Given the description of an element on the screen output the (x, y) to click on. 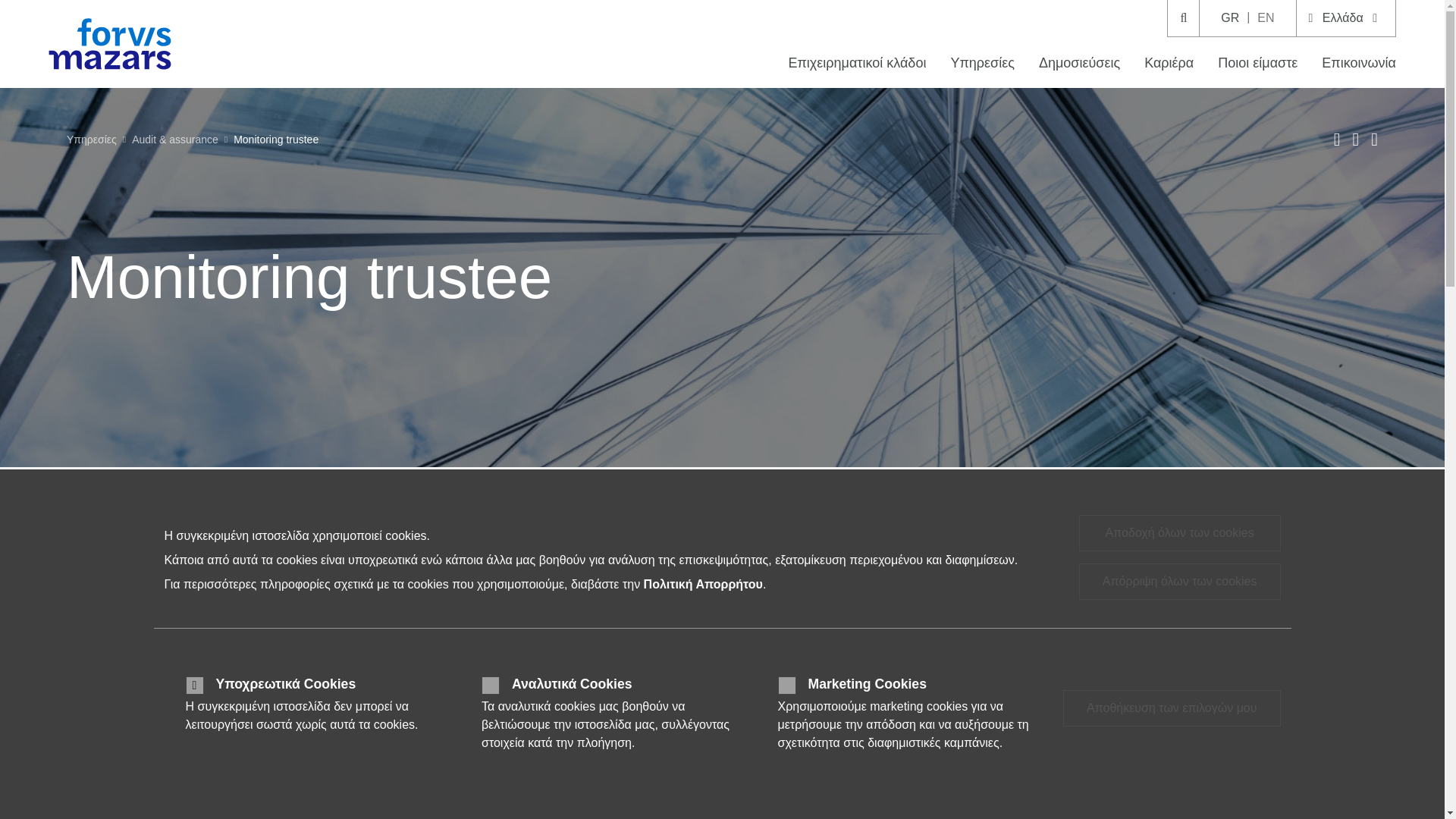
EN (1264, 17)
